Given the description of an element on the screen output the (x, y) to click on. 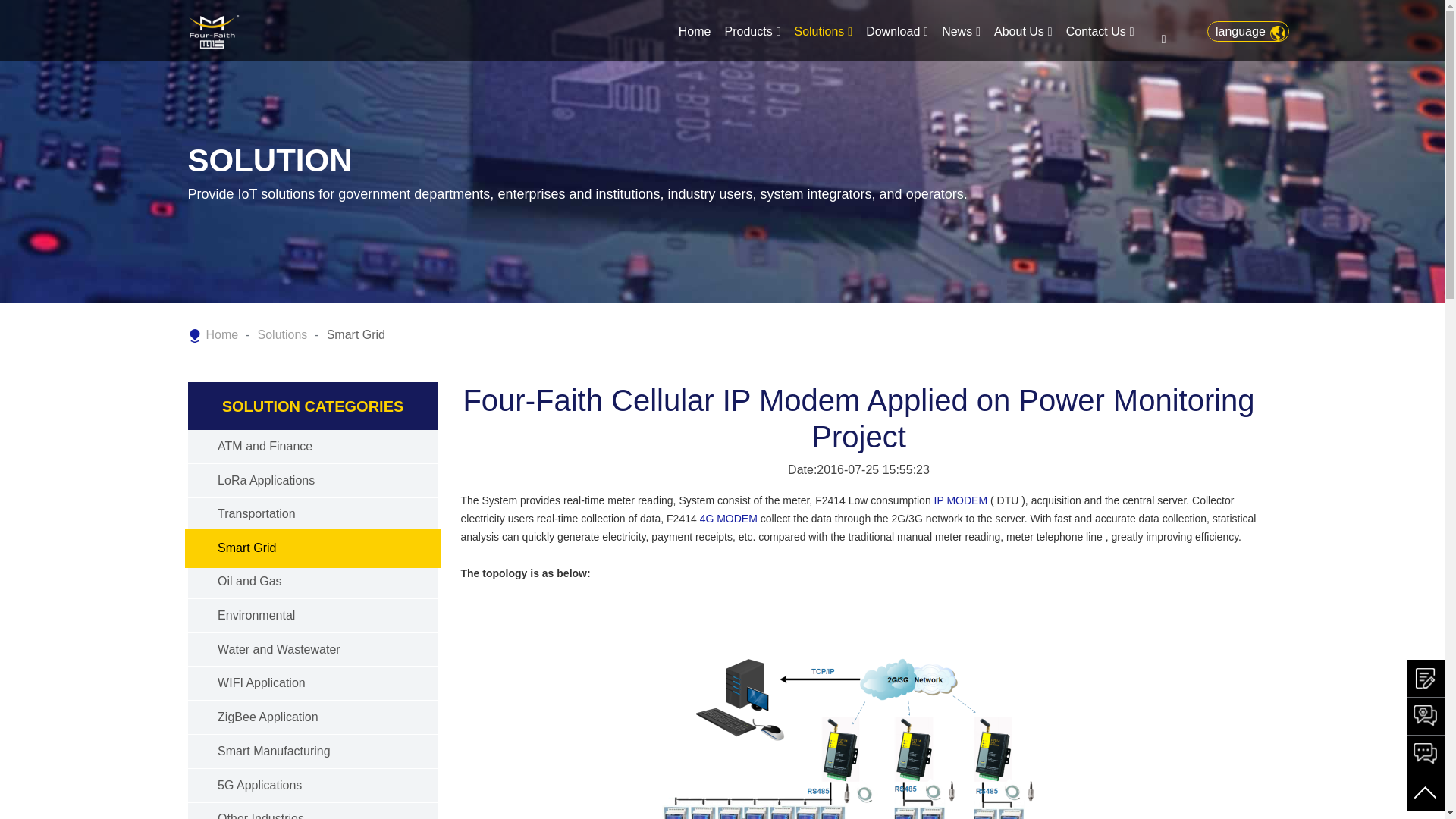
LoRa Applications (265, 480)
5G Applications (258, 784)
Oil and Gas (248, 581)
Products (752, 31)
Transportation (255, 513)
Environmental (255, 615)
Solutions (823, 31)
language (1247, 31)
Smart Manufacturing (273, 750)
ATM and Finance (264, 445)
ZigBee Application (267, 716)
WIFI Application (260, 682)
Water and Wastewater (278, 649)
Home (694, 31)
Smart Grid (246, 547)
